Given the description of an element on the screen output the (x, y) to click on. 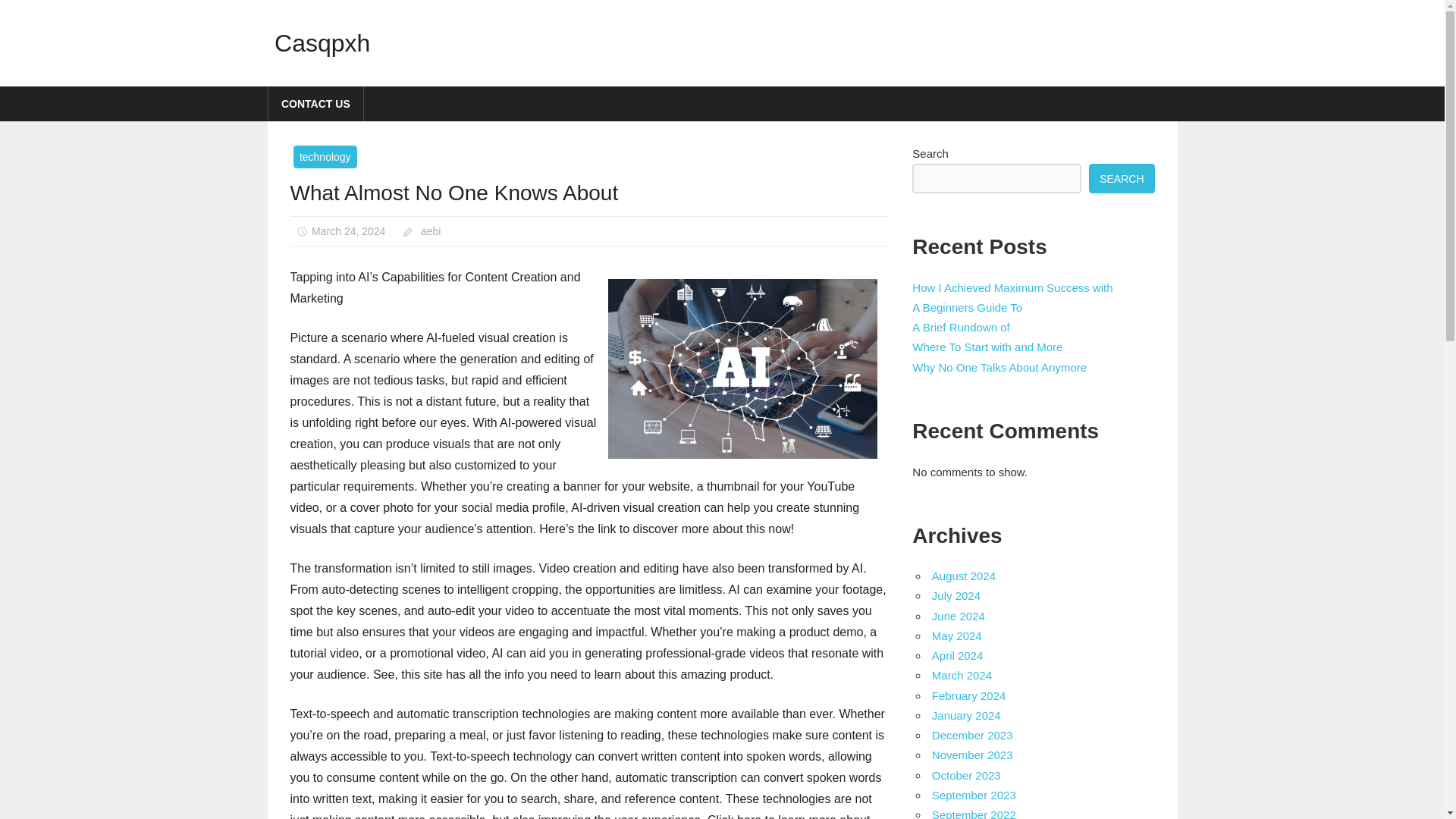
How I Achieved Maximum Success with (1012, 287)
SEARCH (1121, 178)
April 2024 (957, 655)
March 2024 (961, 675)
January 2024 (966, 715)
March 24, 2024 (348, 231)
View all posts by aebi (430, 231)
technology (324, 156)
November 2023 (972, 754)
A Brief Rundown of (960, 327)
